Given the description of an element on the screen output the (x, y) to click on. 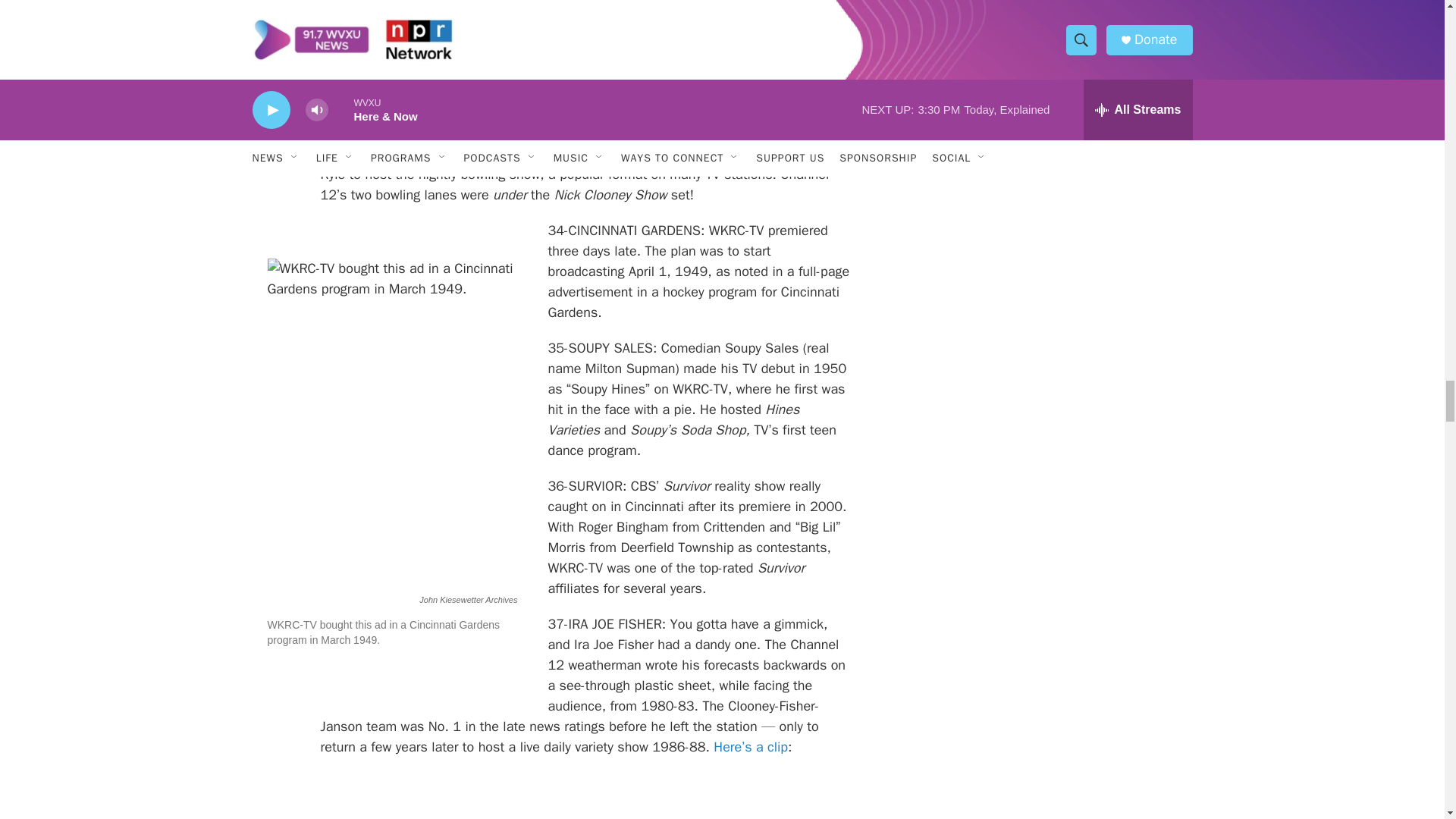
Glenn Ryle Retirement Salute (585, 14)
